Given the description of an element on the screen output the (x, y) to click on. 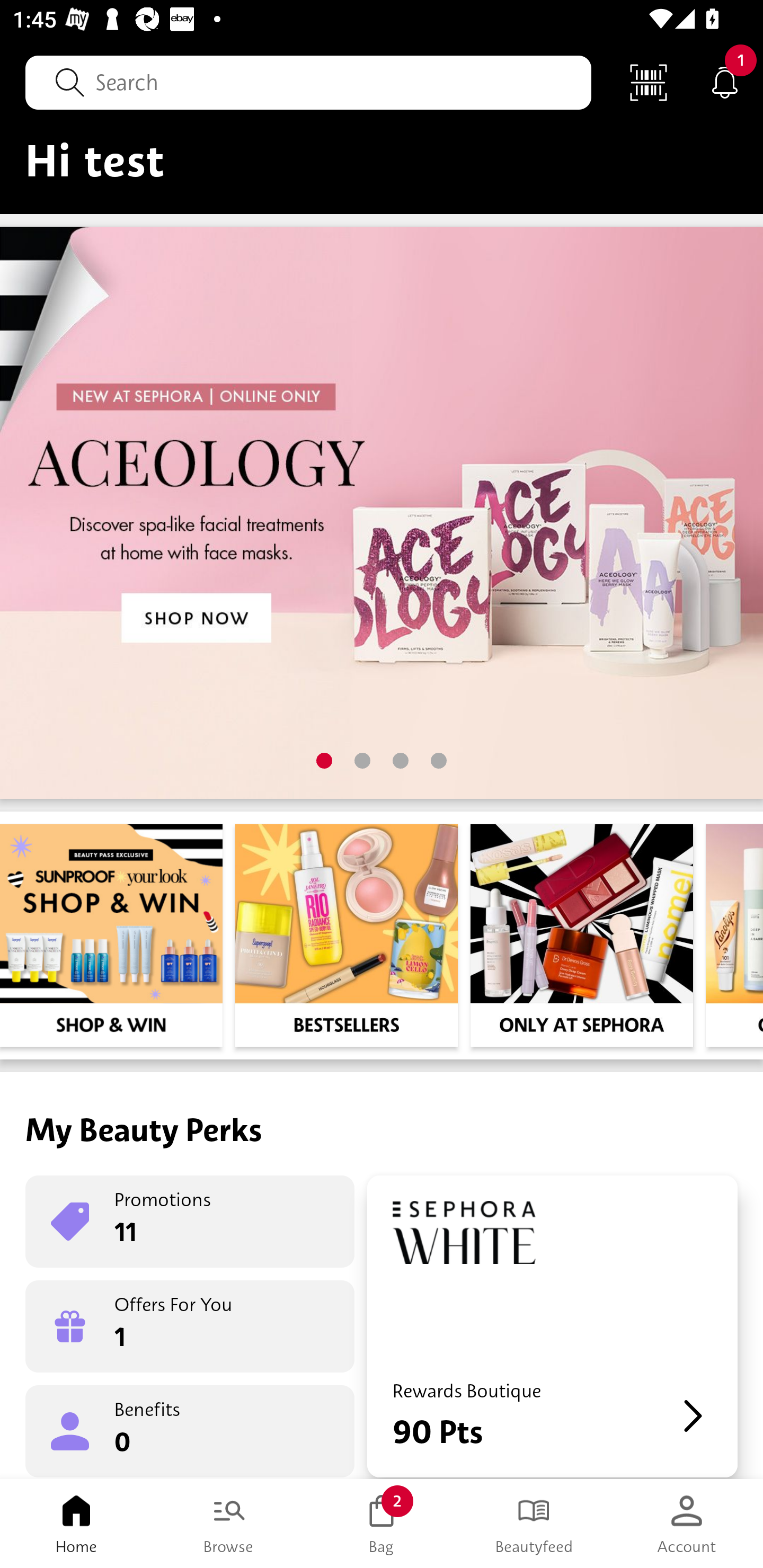
Scan Code (648, 81)
Notifications (724, 81)
Search (308, 81)
Promotions 11 (189, 1221)
Rewards Boutique 90 Pts (552, 1326)
Offers For You 1 (189, 1326)
Benefits 0 (189, 1430)
Browse (228, 1523)
Bag 2 Bag (381, 1523)
Beautyfeed (533, 1523)
Account (686, 1523)
